Given the description of an element on the screen output the (x, y) to click on. 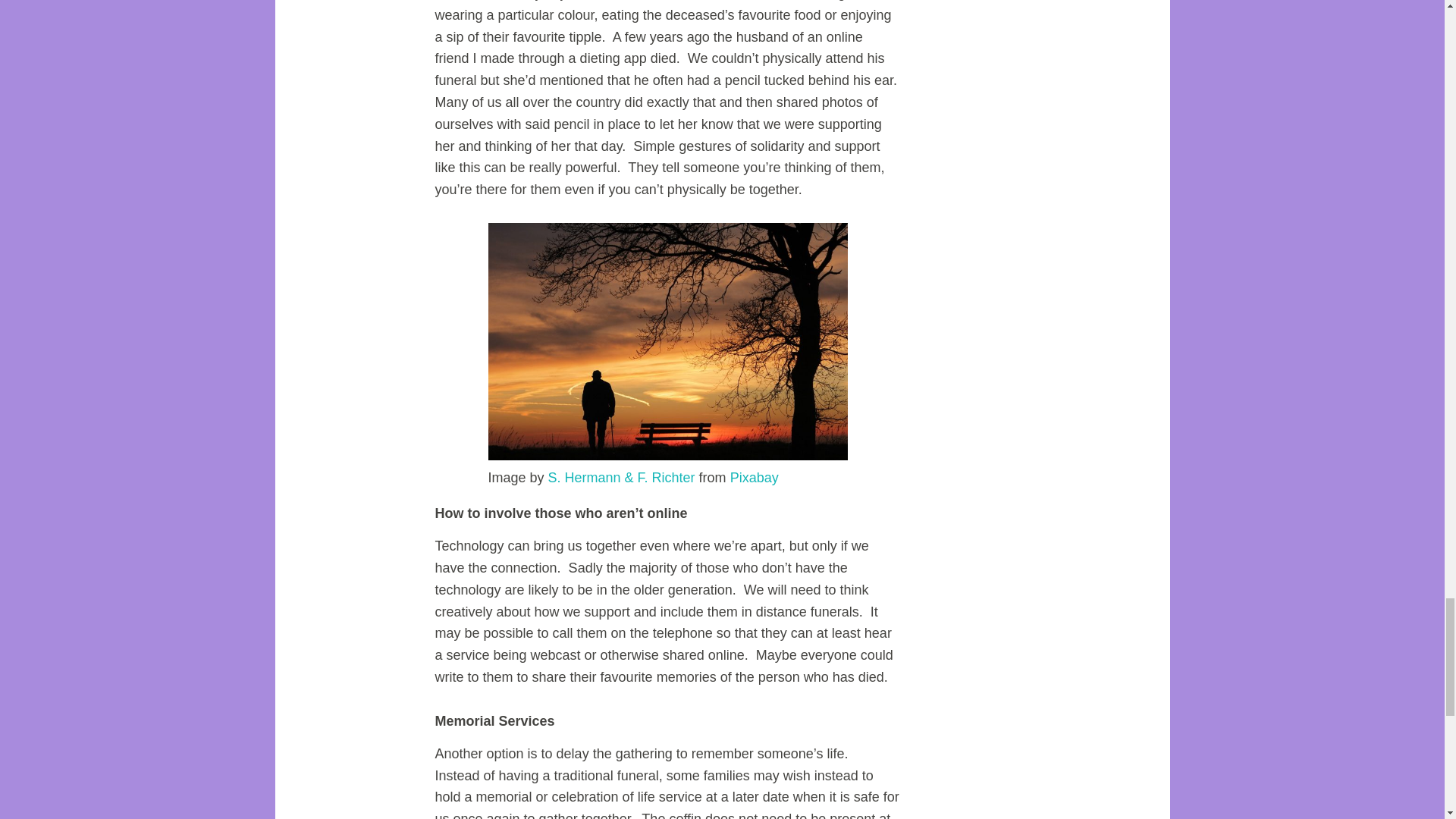
Pixabay (754, 477)
